Given the description of an element on the screen output the (x, y) to click on. 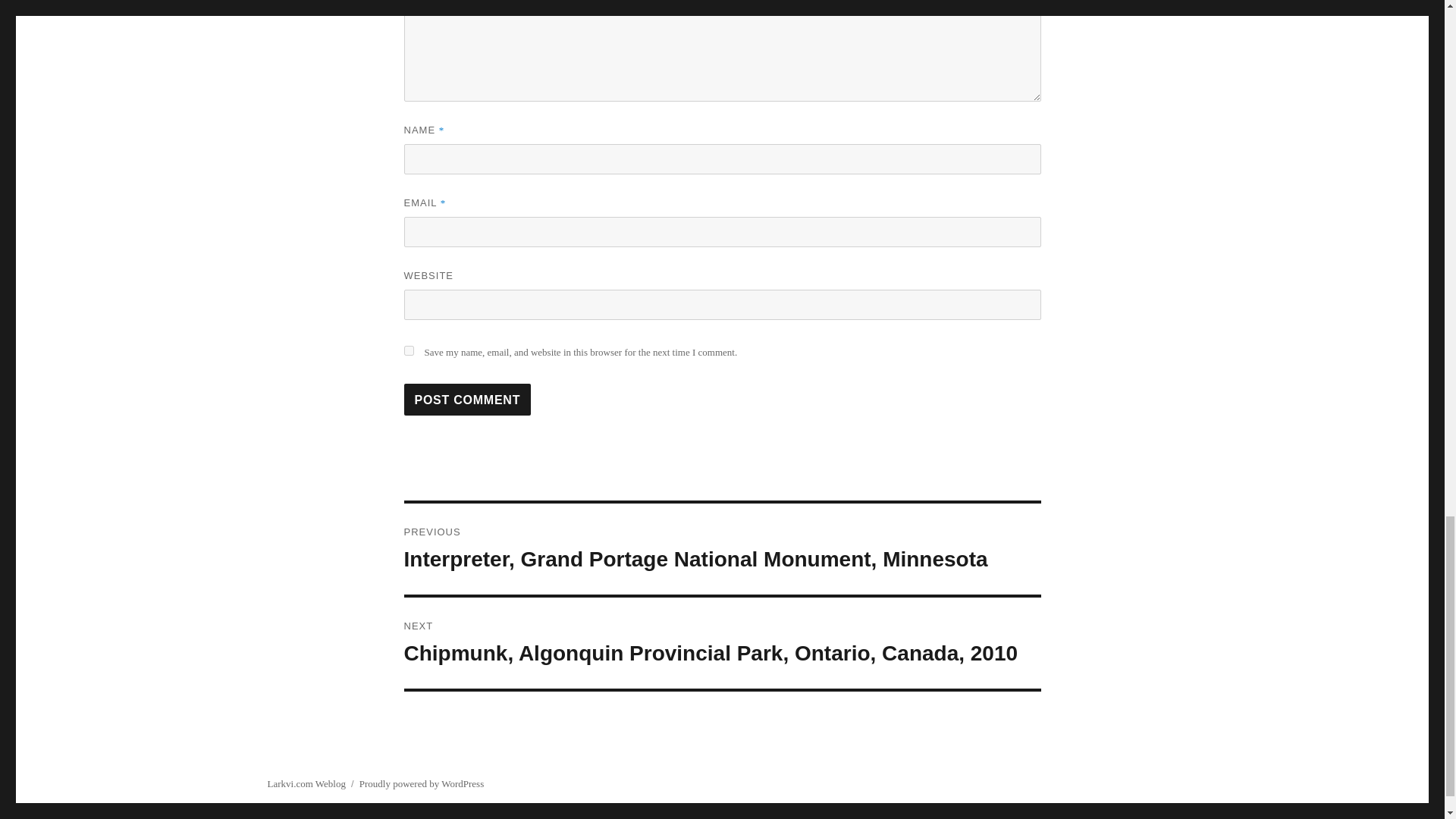
Post Comment (467, 399)
Post Comment (467, 399)
yes (408, 350)
Larkvi.com Weblog (305, 783)
Proudly powered by WordPress (421, 783)
